Given the description of an element on the screen output the (x, y) to click on. 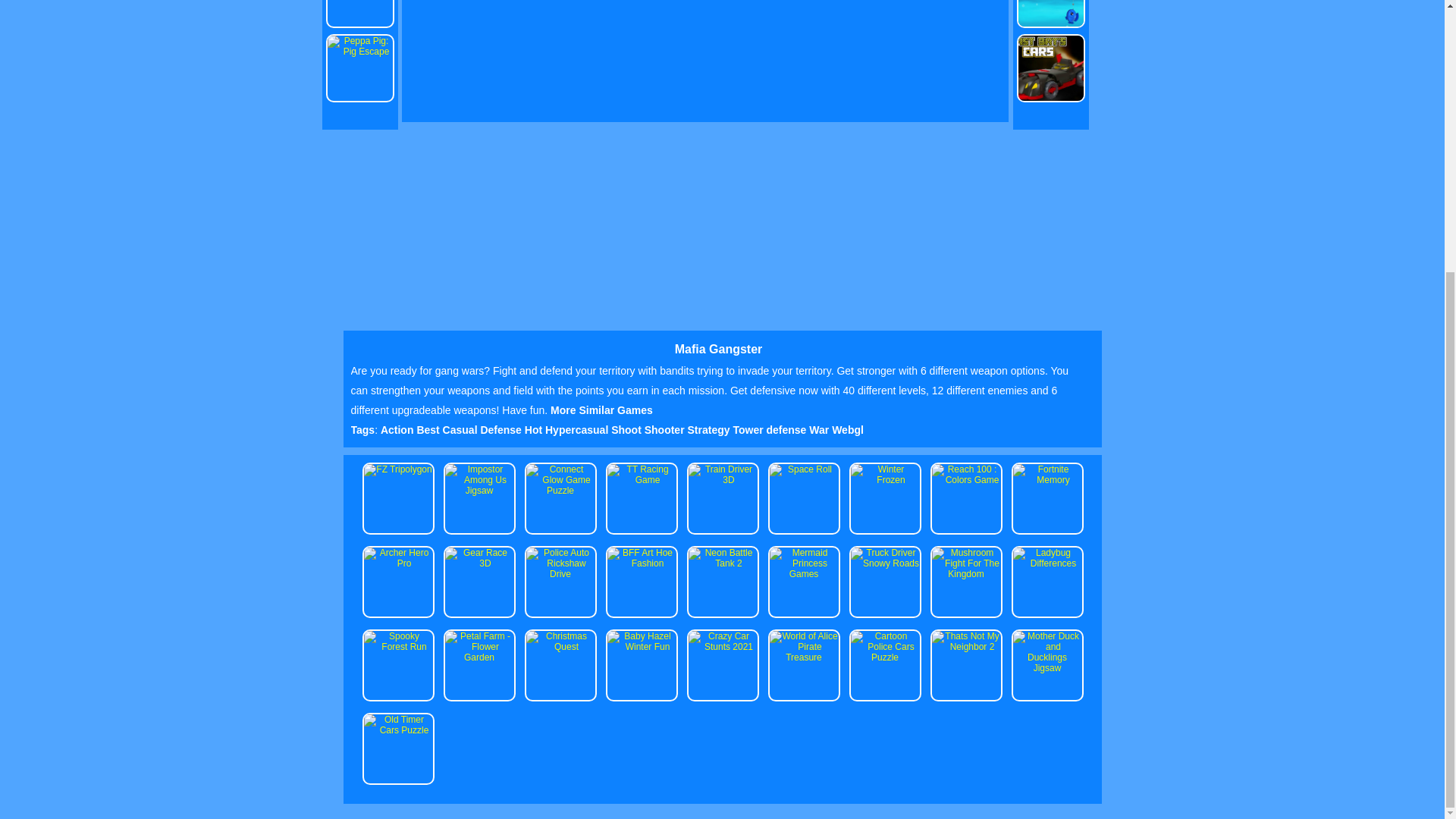
Hypercasual (577, 429)
More Similar Games (601, 410)
Strategy (709, 429)
Hot (534, 429)
Action (398, 429)
Defense (502, 429)
Casual (461, 429)
Shooter (666, 429)
Shoot (628, 429)
Best (429, 429)
Tower defense (770, 429)
